Given the description of an element on the screen output the (x, y) to click on. 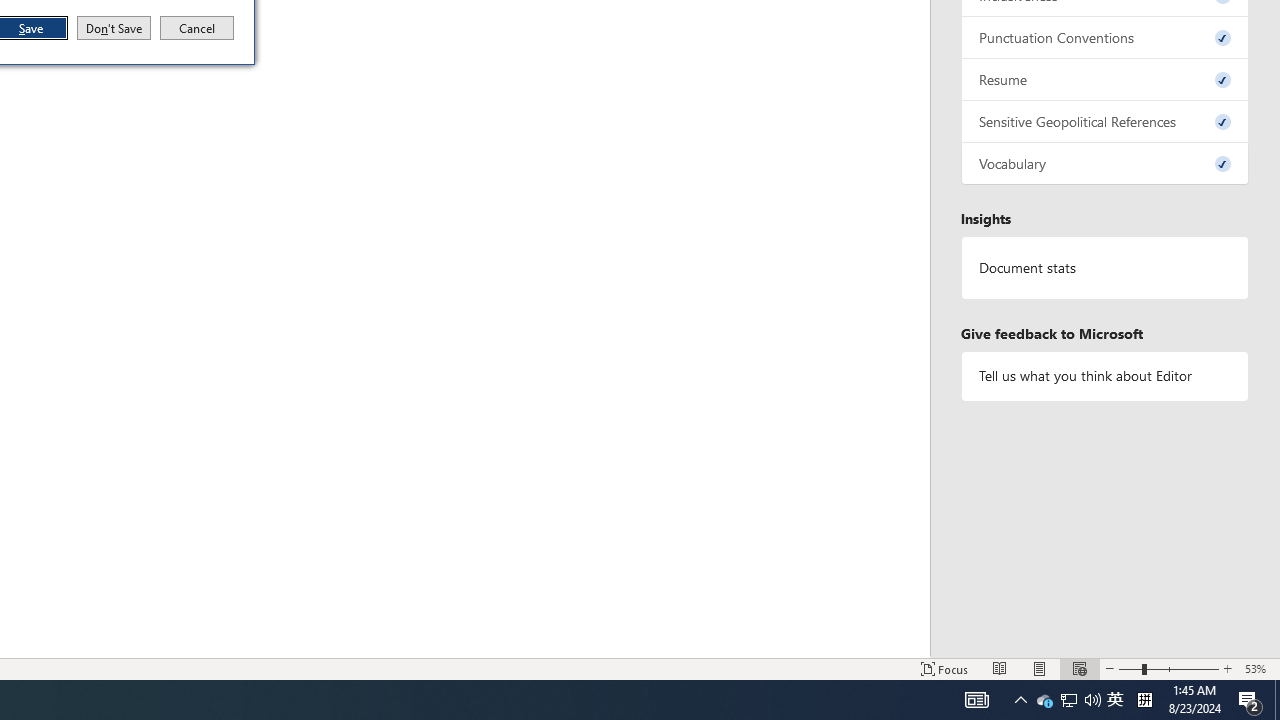
Zoom 53% (1115, 699)
Vocabulary, 0 issues. Press space or enter to review items. (1258, 668)
Don't Save (1105, 163)
